Given the description of an element on the screen output the (x, y) to click on. 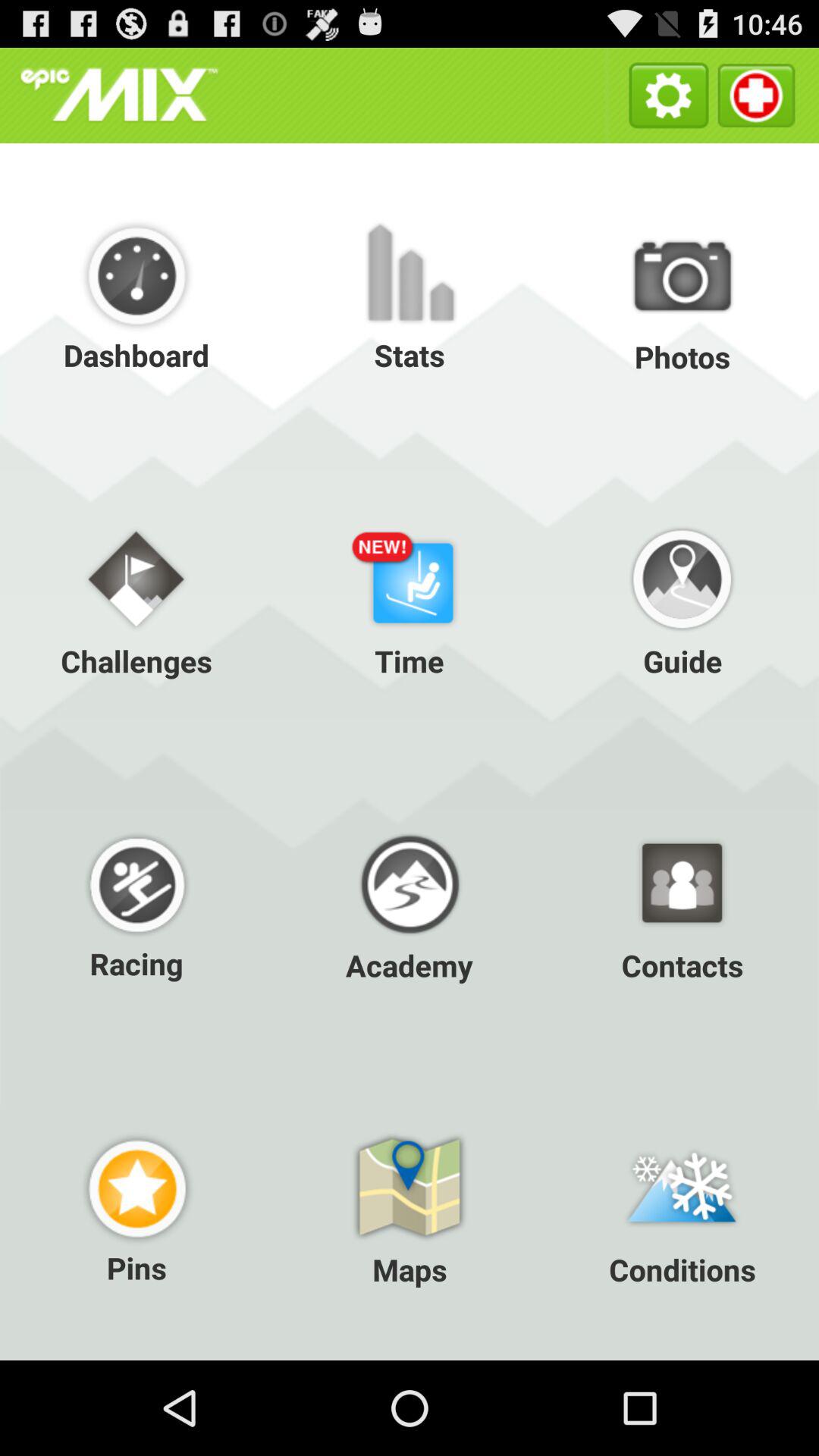
turn on challenges item (136, 599)
